Given the description of an element on the screen output the (x, y) to click on. 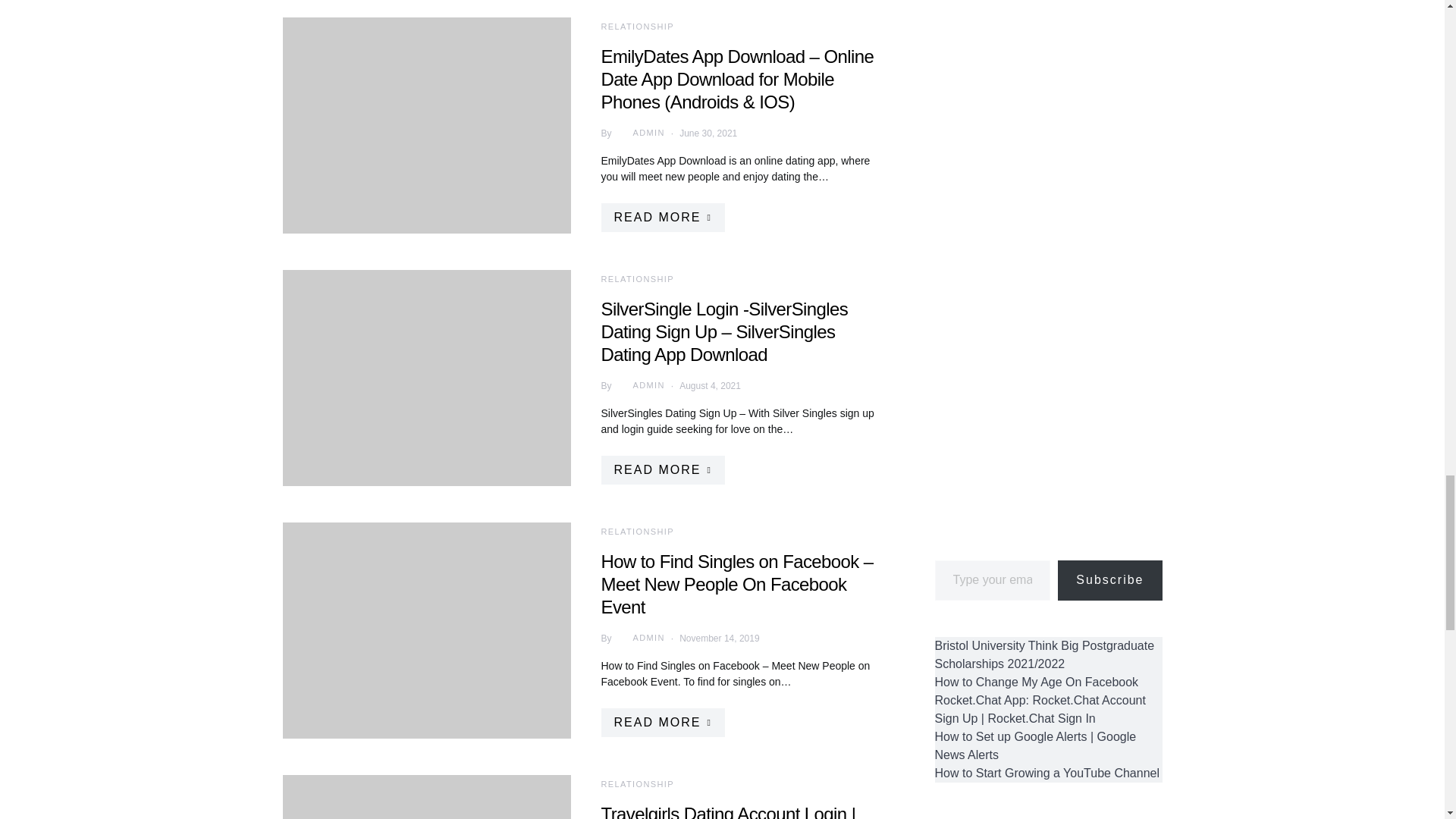
ADMIN (638, 385)
RELATIONSHIP (635, 531)
View all posts by admin (638, 385)
RELATIONSHIP (635, 26)
READ MORE (661, 217)
View all posts by admin (638, 638)
ADMIN (638, 133)
View all posts by admin (638, 133)
READ MORE (661, 469)
RELATIONSHIP (635, 278)
